Given the description of an element on the screen output the (x, y) to click on. 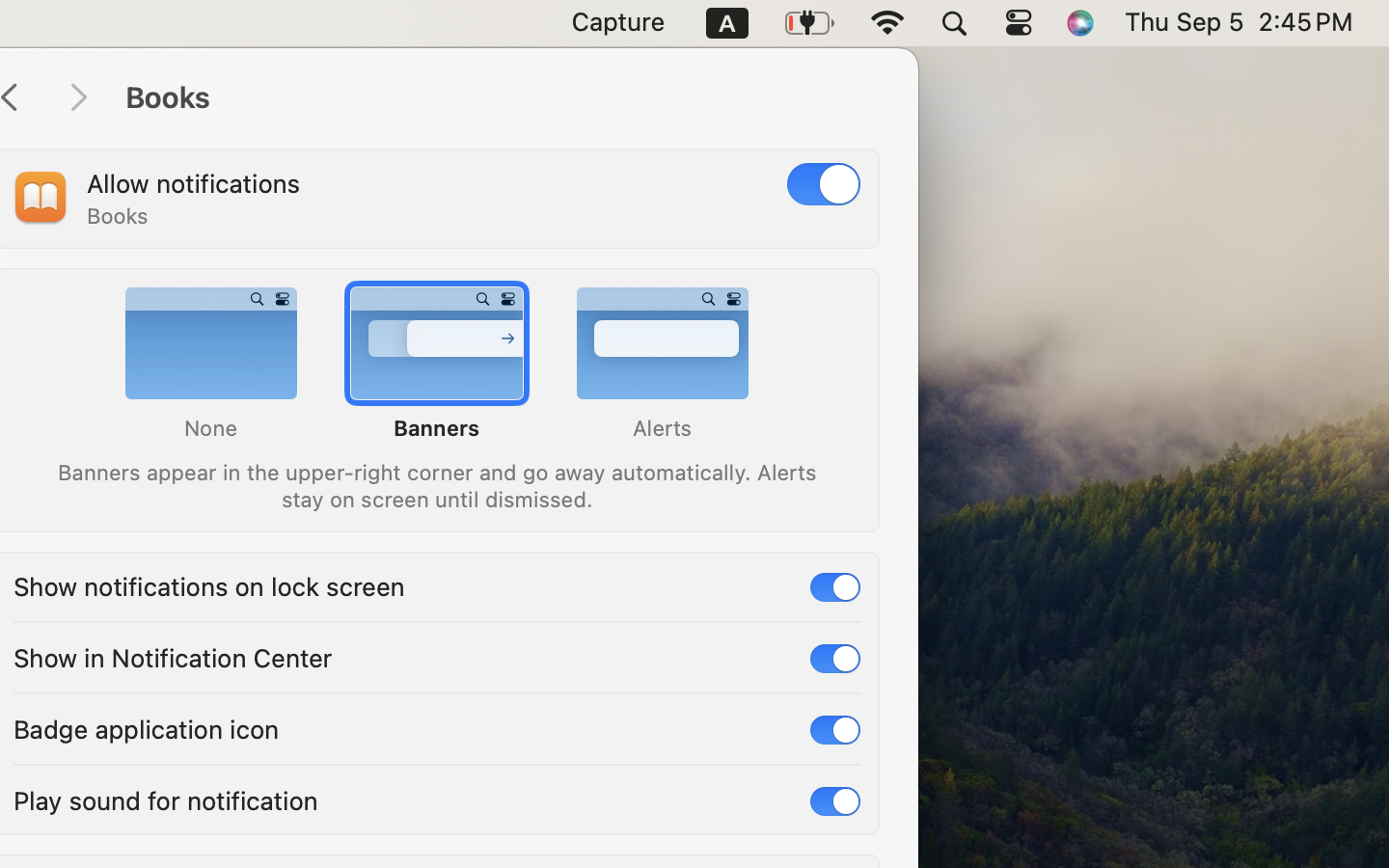
Show in Notification Center Element type: AXStaticText (172, 655)
Books Element type: AXStaticText (501, 98)
Show notifications on lock screen Element type: AXStaticText (209, 584)
